Given the description of an element on the screen output the (x, y) to click on. 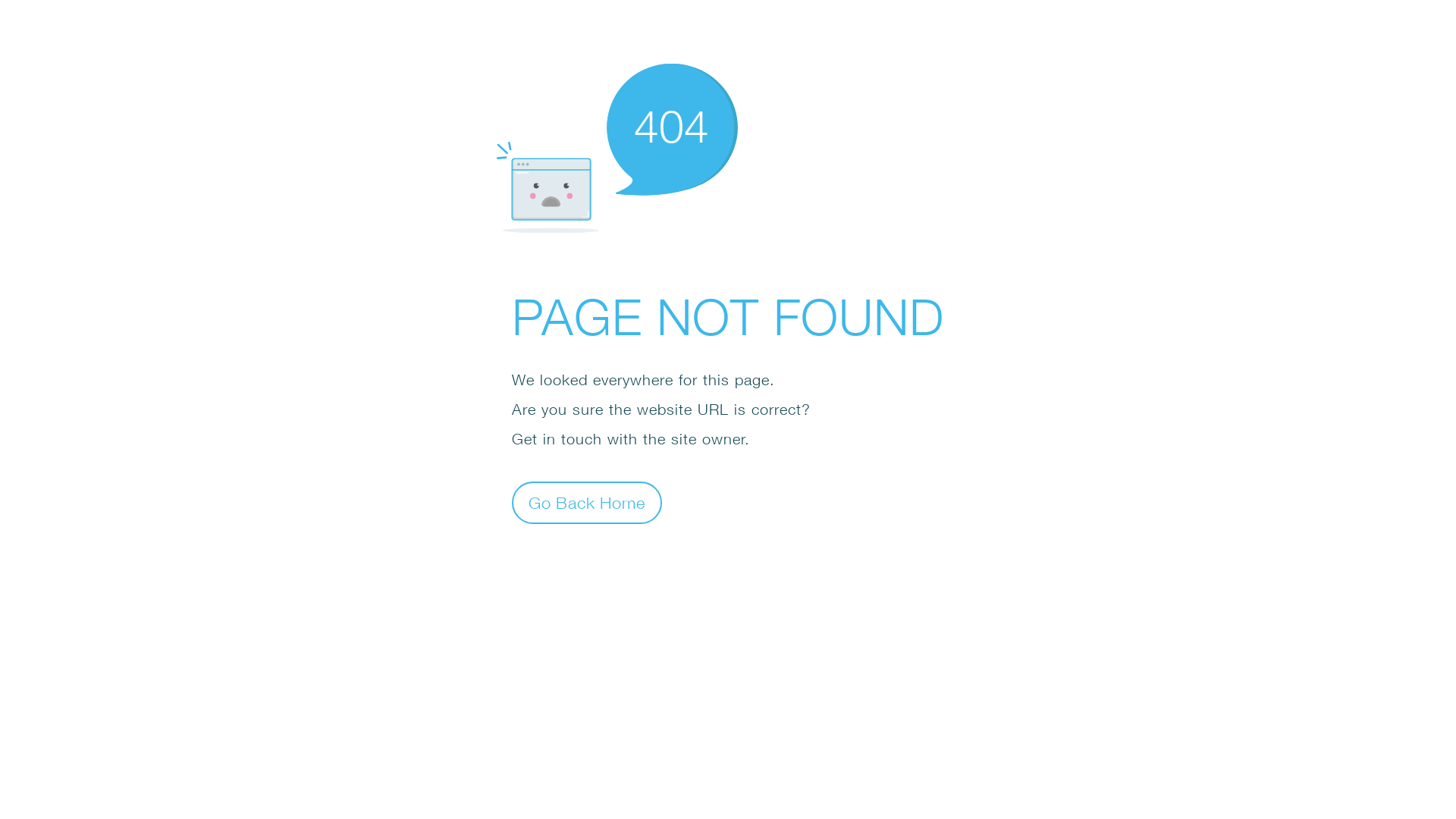
Go Back Home Element type: text (586, 502)
